Given the description of an element on the screen output the (x, y) to click on. 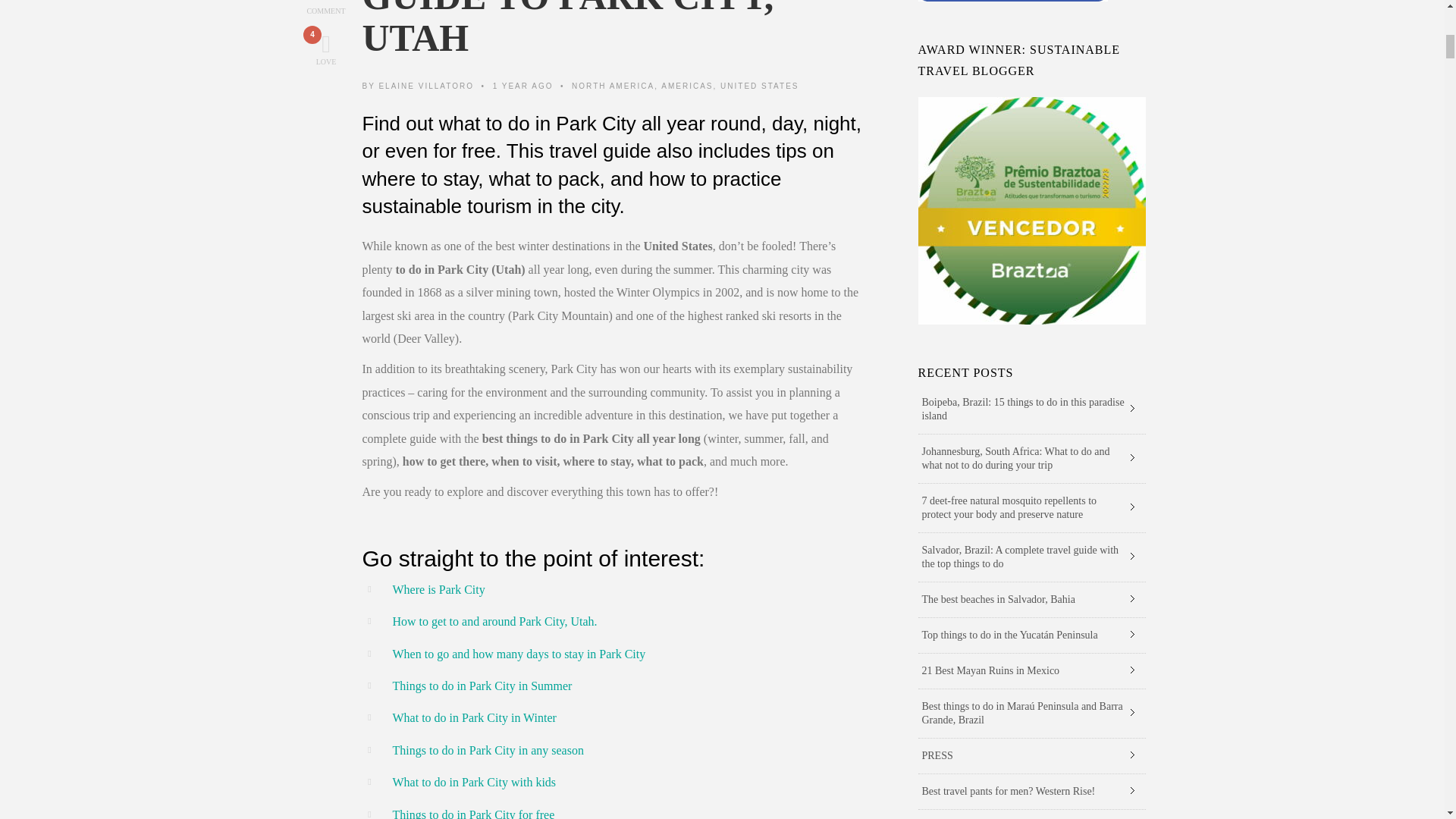
More NORTH AMERICA Posts (612, 85)
More AMERICAS Posts (687, 85)
More UNITED STATES Posts (758, 85)
Posts by Elaine Villatoro (426, 85)
